Given the description of an element on the screen output the (x, y) to click on. 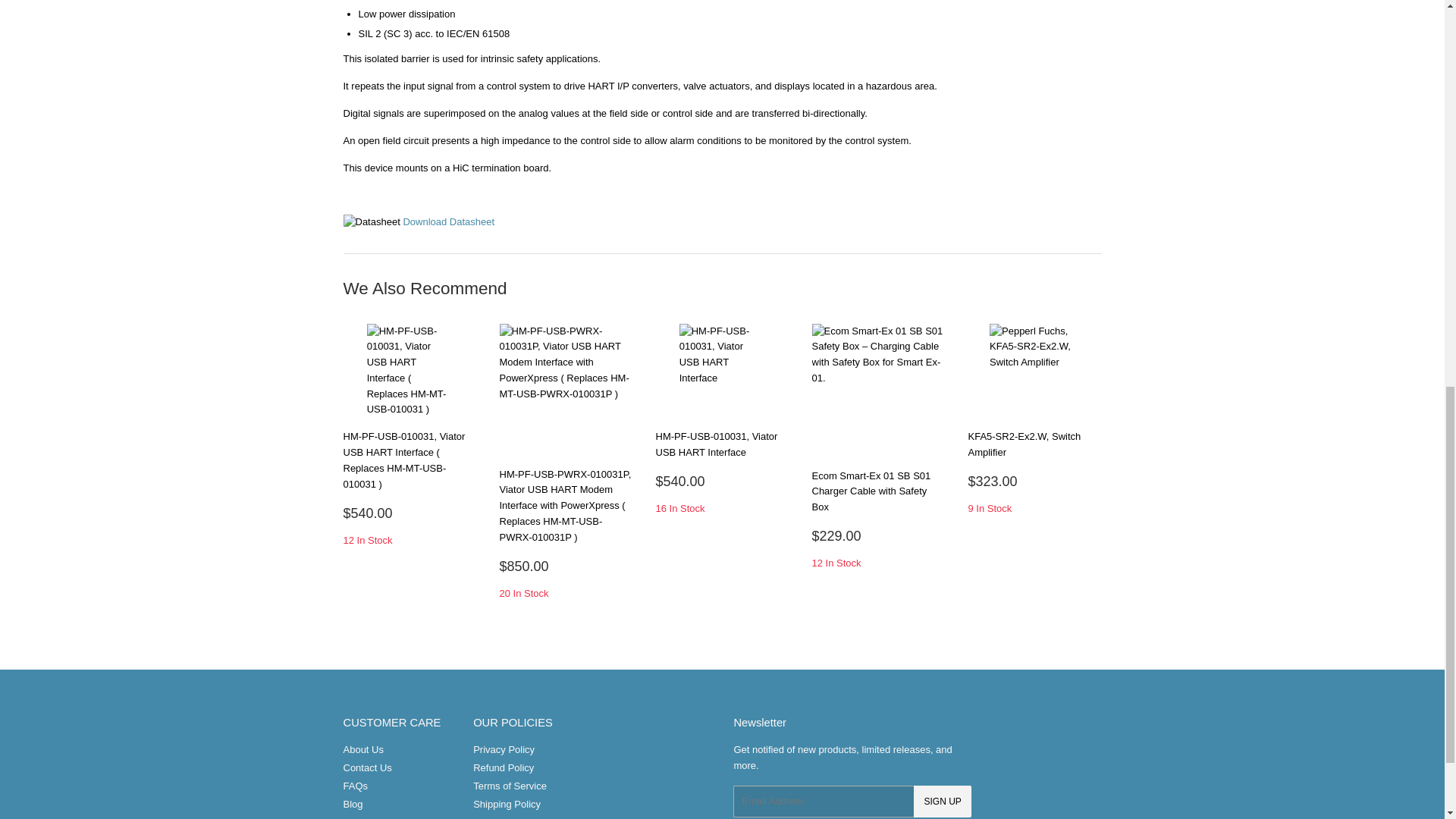
Download Datasheet (449, 221)
Datasheet (370, 222)
Download Datasheet (449, 221)
